Given the description of an element on the screen output the (x, y) to click on. 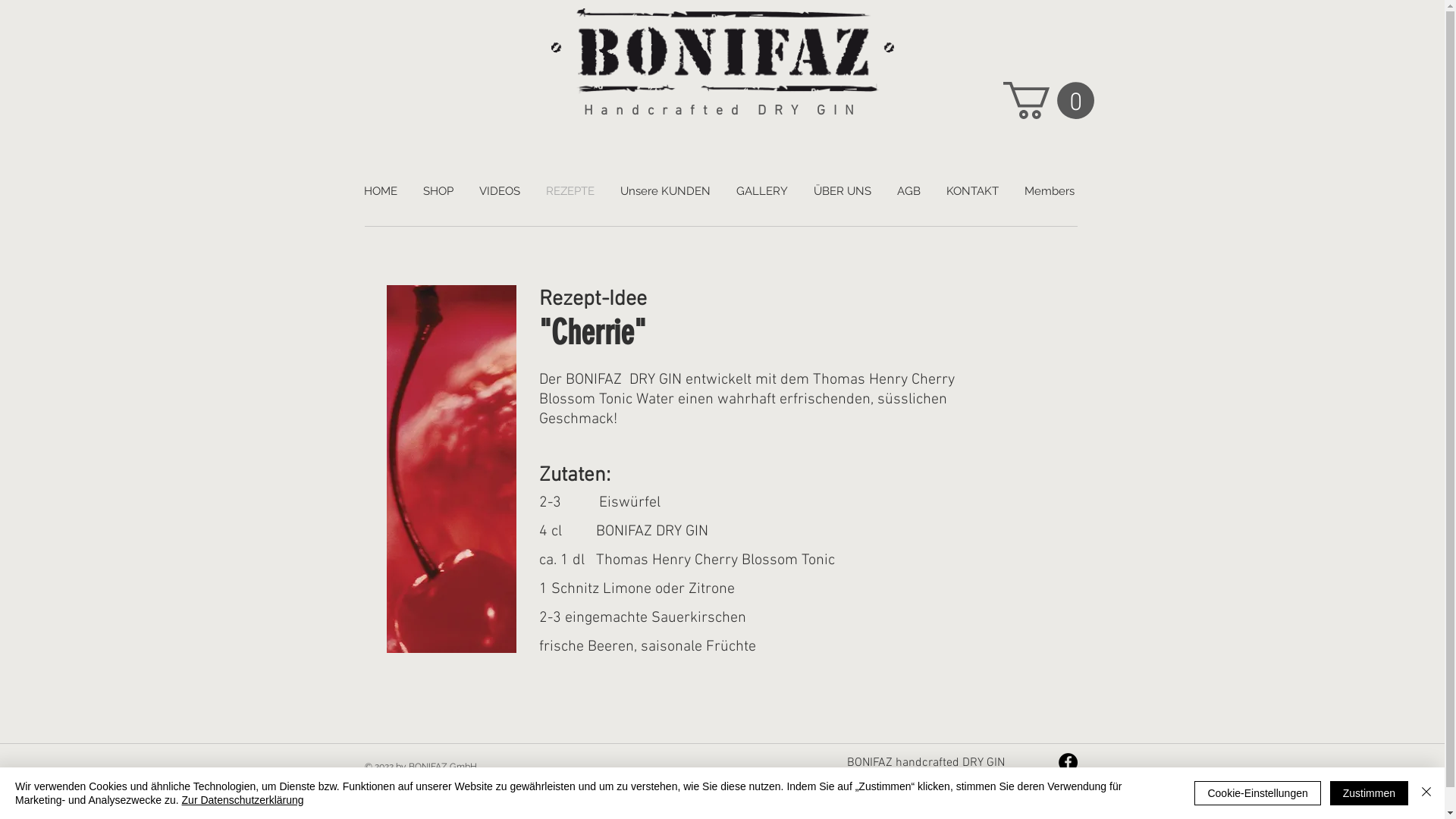
Members Element type: text (1049, 191)
AGB Element type: text (908, 191)
VIDEOS Element type: text (498, 191)
REZEPTE Element type: text (569, 191)
Zustimmen Element type: text (1369, 793)
0 Element type: text (1047, 100)
GALLERY Element type: text (761, 191)
KONTAKT Element type: text (971, 191)
SHOP Element type: text (437, 191)
Unsere KUNDEN Element type: text (664, 191)
HOME Element type: text (379, 191)
Cookie-Einstellungen Element type: text (1257, 793)
